Given the description of an element on the screen output the (x, y) to click on. 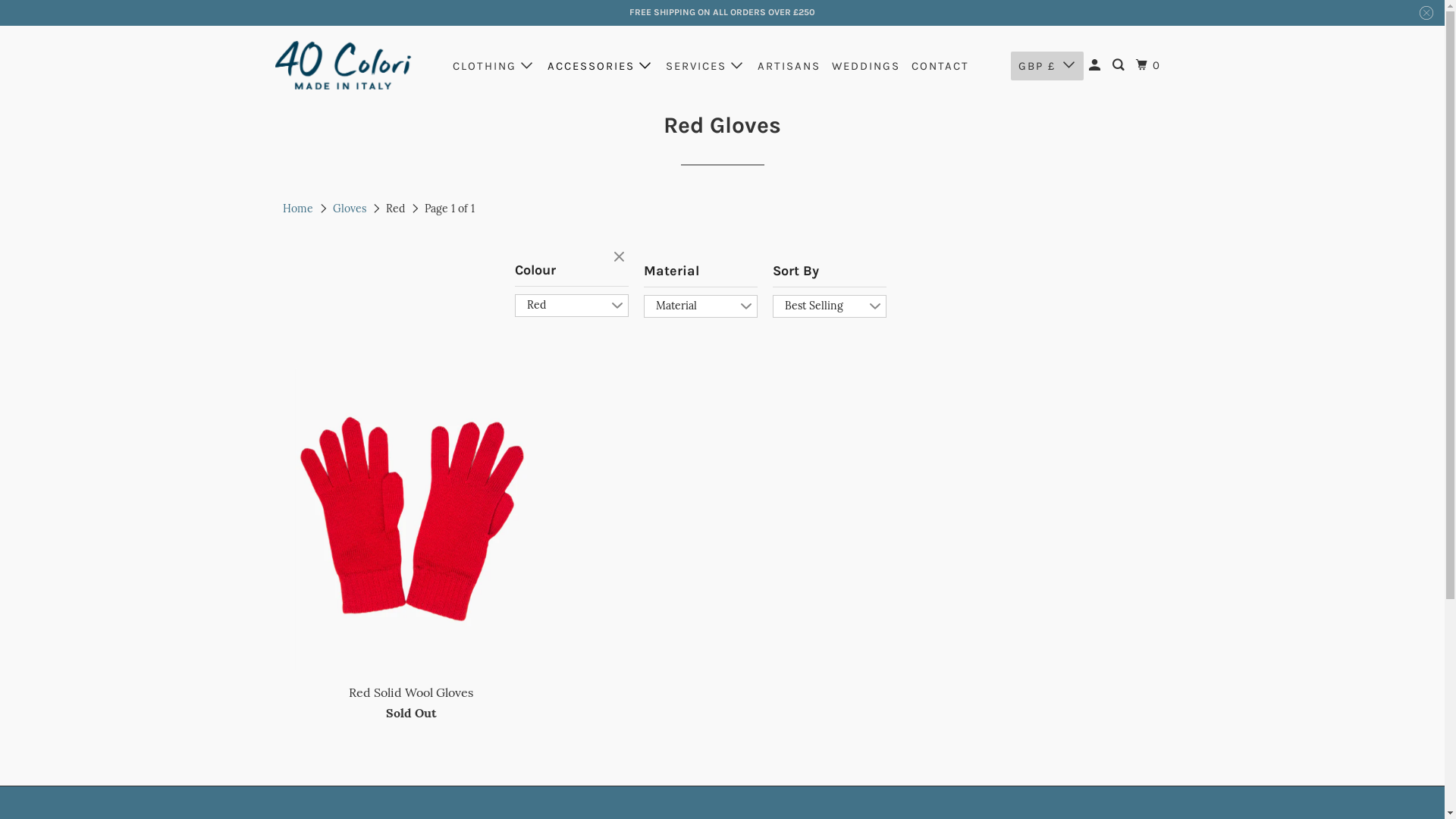
Gloves Element type: text (349, 208)
0 Element type: text (1149, 65)
ARTISANS Element type: text (788, 66)
My Account  Element type: hover (1096, 65)
WEDDINGS Element type: text (865, 66)
Red Solid Wool Gloves
Sold Out Element type: text (410, 545)
CONTACT Element type: text (940, 66)
Home Element type: text (297, 208)
clear Element type: text (619, 257)
40 Colori Element type: hover (342, 64)
Search Element type: hover (1119, 65)
